Given the description of an element on the screen output the (x, y) to click on. 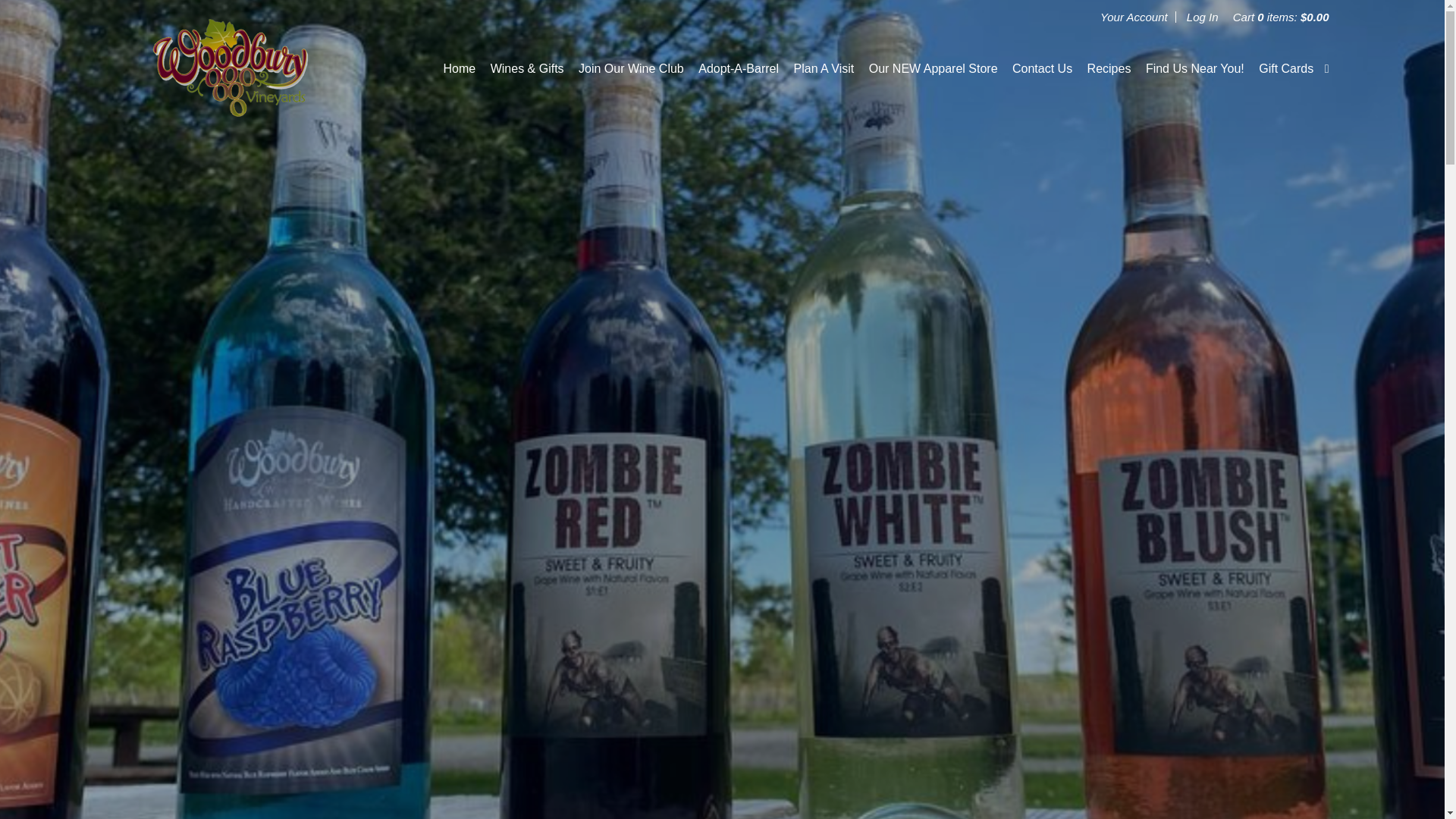
Contact Us (1041, 68)
Recipes (1109, 68)
Home (460, 68)
Our NEW Apparel Store (933, 68)
Your Account (1133, 16)
Log In (1202, 16)
Find Us Near You! (1194, 68)
Plan A Visit (823, 68)
Woodbury Vineyards Home (229, 68)
Adopt-A-Barrel (738, 68)
Join Our Wine Club (631, 68)
Gift Cards (1286, 68)
